Given the description of an element on the screen output the (x, y) to click on. 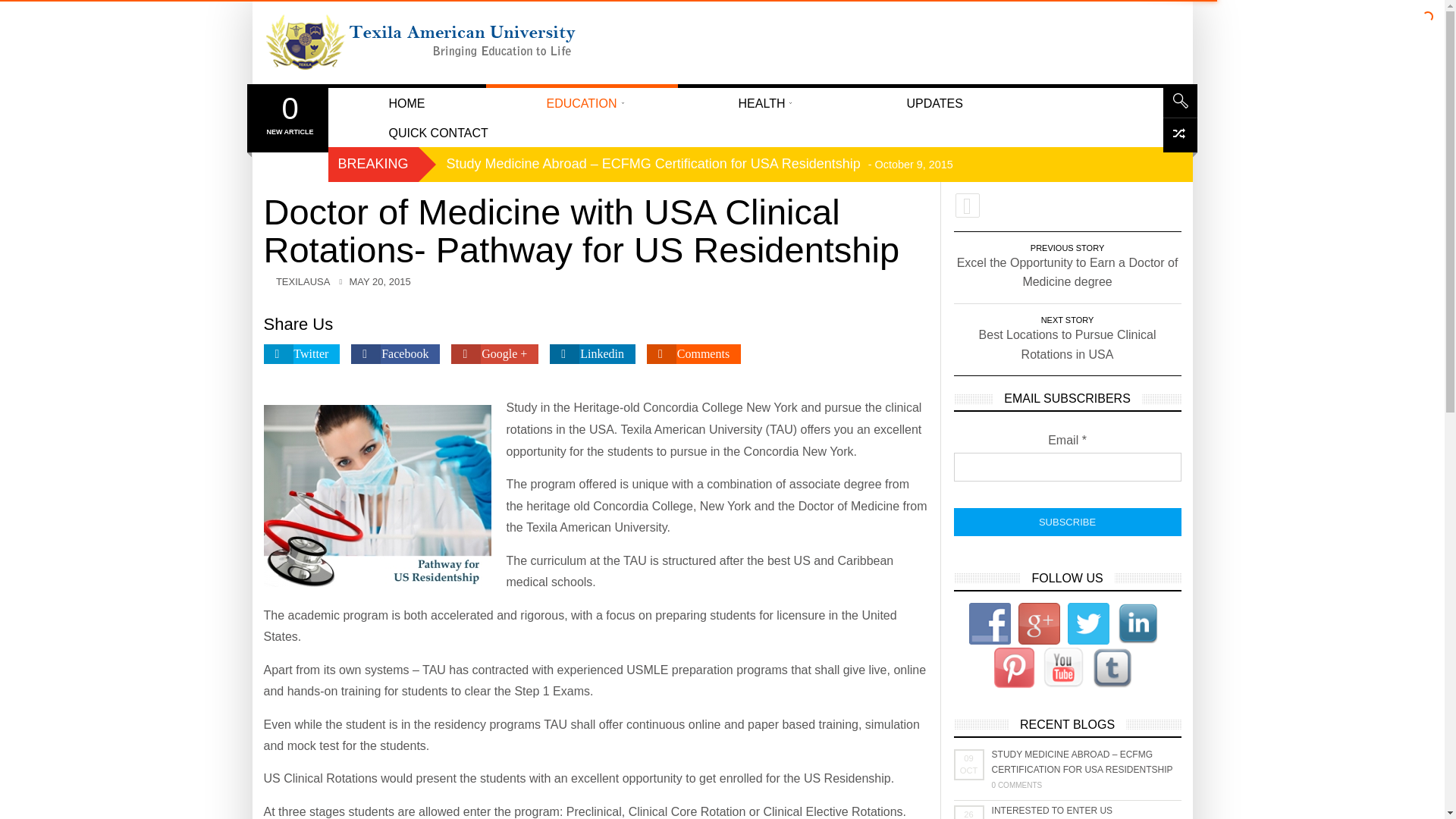
QUICK CONTACT (437, 132)
UPDATES (934, 102)
BREAKING (373, 163)
EDUCATION (289, 113)
HEALTH (580, 102)
Subscribe (761, 102)
HOME (1066, 521)
TexilaUS (405, 102)
